Given the description of an element on the screen output the (x, y) to click on. 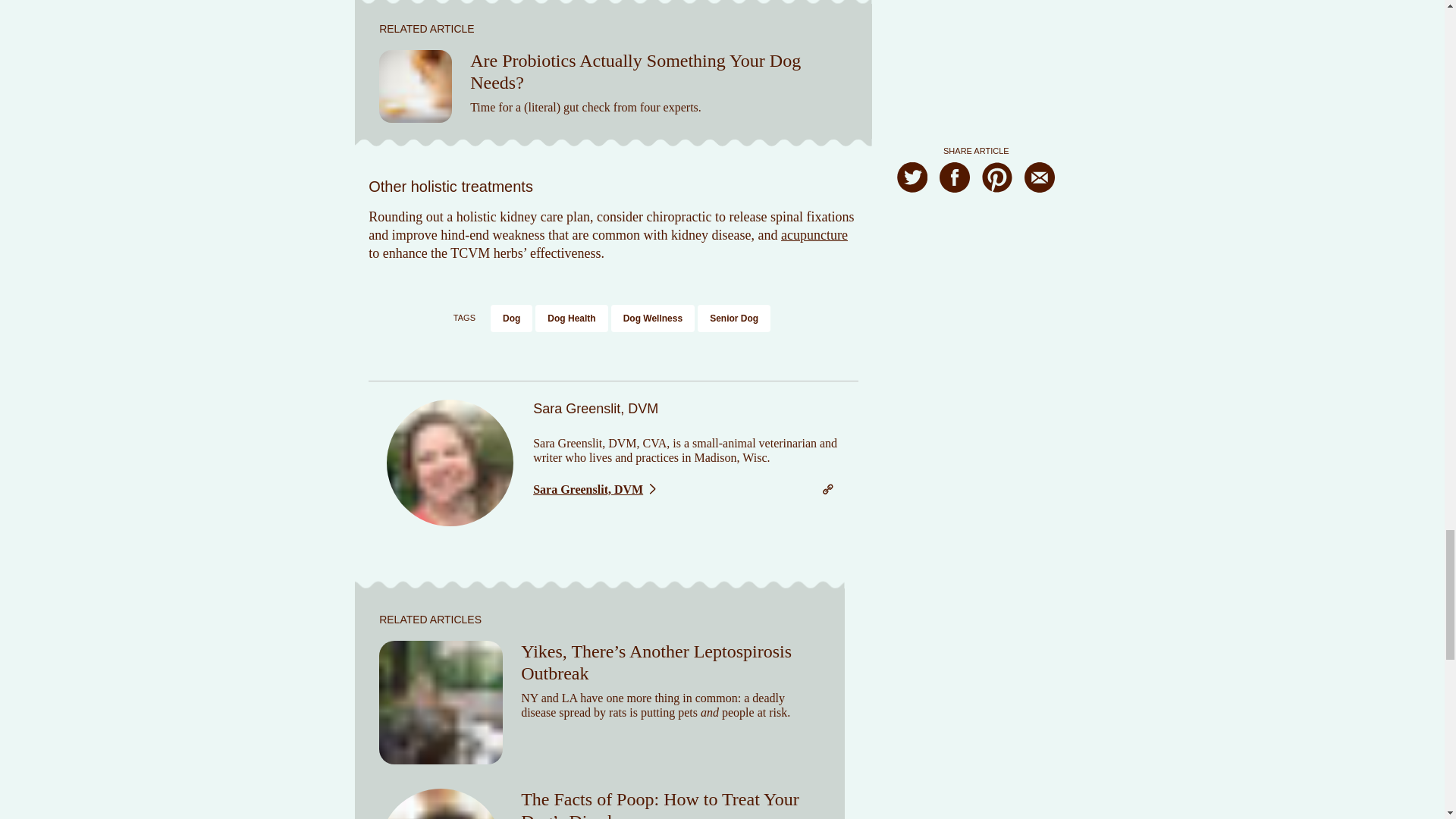
Senior Dog (734, 317)
Are Probiotics Actually Something Your Dog Needs? (635, 71)
acupuncture (813, 234)
Dog Health (571, 317)
Website (827, 488)
Dog Wellness (652, 317)
Sara Greenslit, DVM (594, 489)
Website (827, 489)
Dog (510, 317)
